Given the description of an element on the screen output the (x, y) to click on. 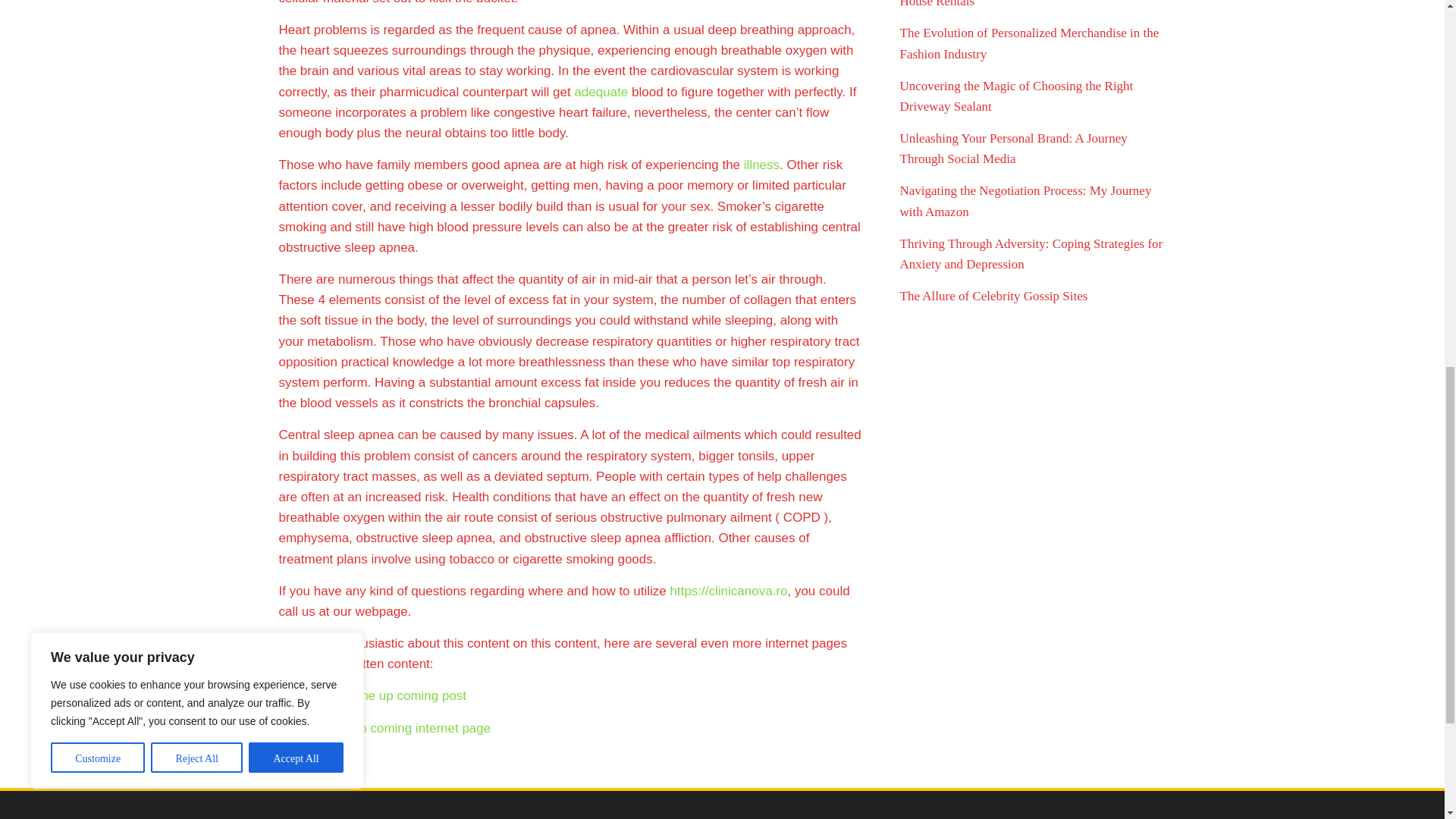
Click through the up coming post (373, 695)
Transformative Moments: The Impact of Bounce House Rentals (1026, 4)
illness (761, 164)
adequate (600, 92)
just click the up coming internet page (385, 728)
